Given the description of an element on the screen output the (x, y) to click on. 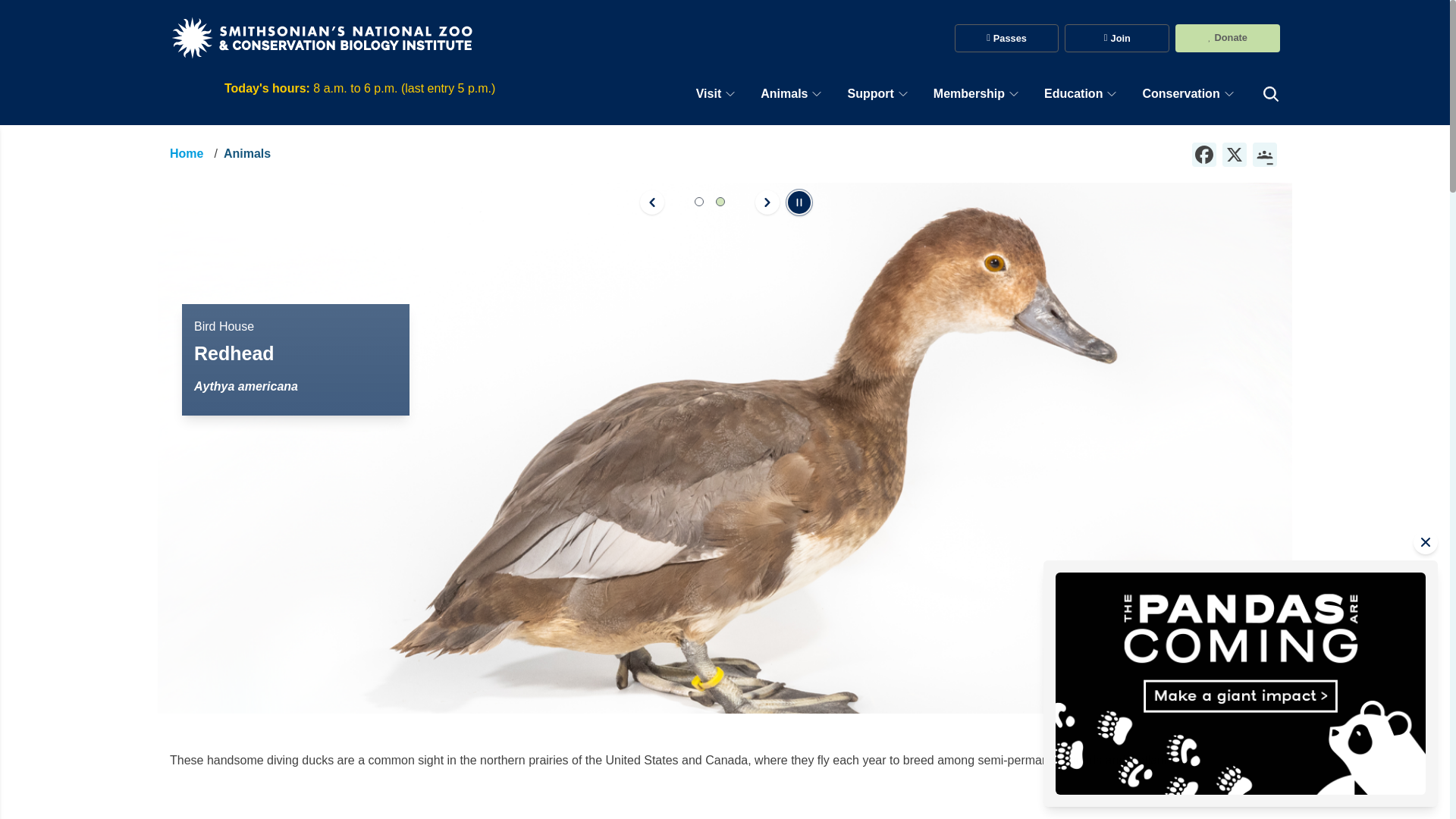
Visit (708, 94)
Support (870, 94)
X (1234, 153)
Passes (1006, 38)
Close modal (1240, 683)
Visit (708, 94)
Membership (1116, 38)
Education (968, 94)
Animals (1072, 94)
Donate (784, 94)
animals (1227, 37)
Facebook (784, 94)
Conservation (1204, 153)
